Given the description of an element on the screen output the (x, y) to click on. 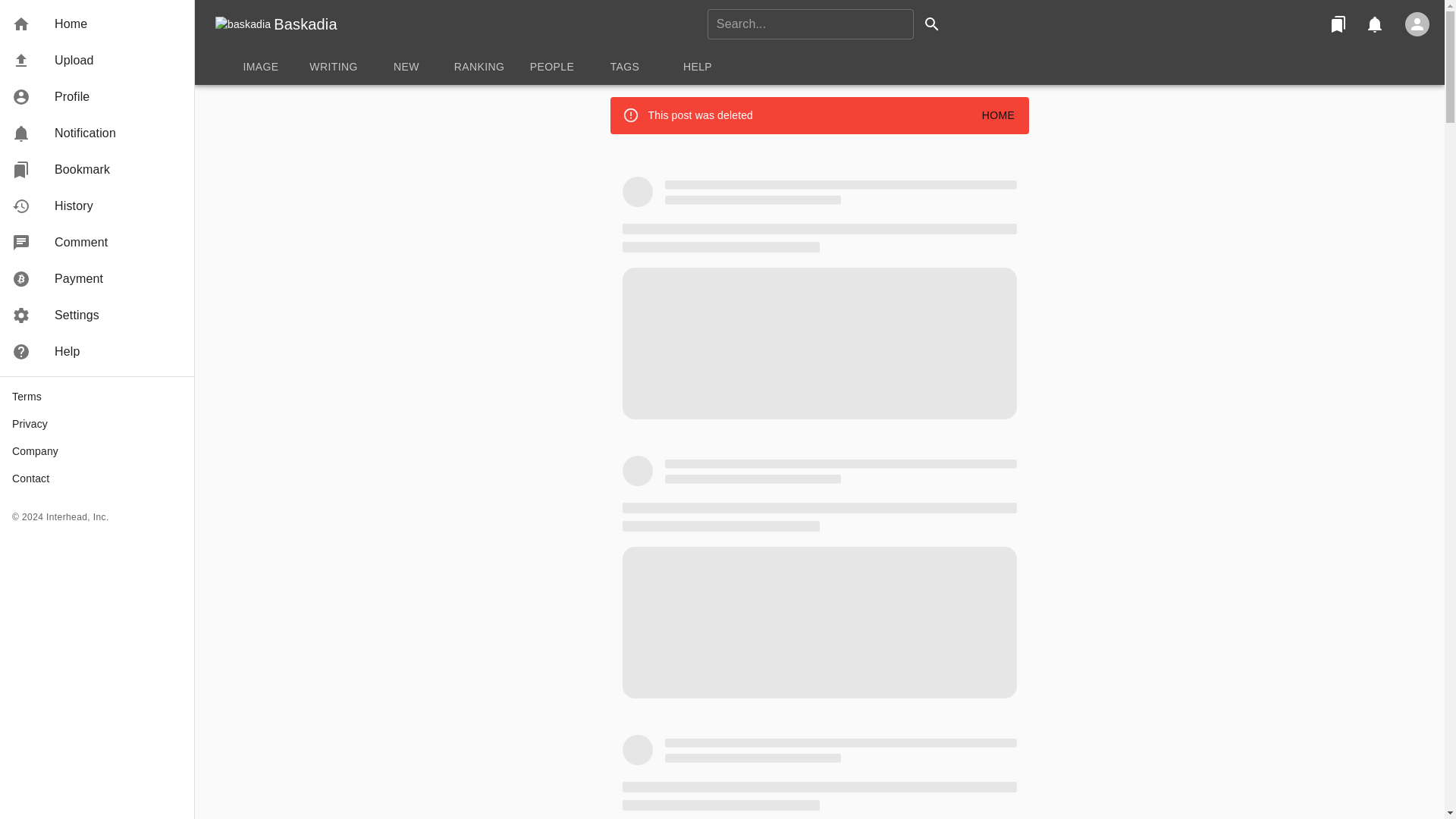
Help (96, 351)
Upload (96, 60)
Bookmark (1338, 24)
Terms (96, 133)
History (96, 396)
Privacy (96, 206)
Search (96, 423)
Contact (818, 66)
